Given the description of an element on the screen output the (x, y) to click on. 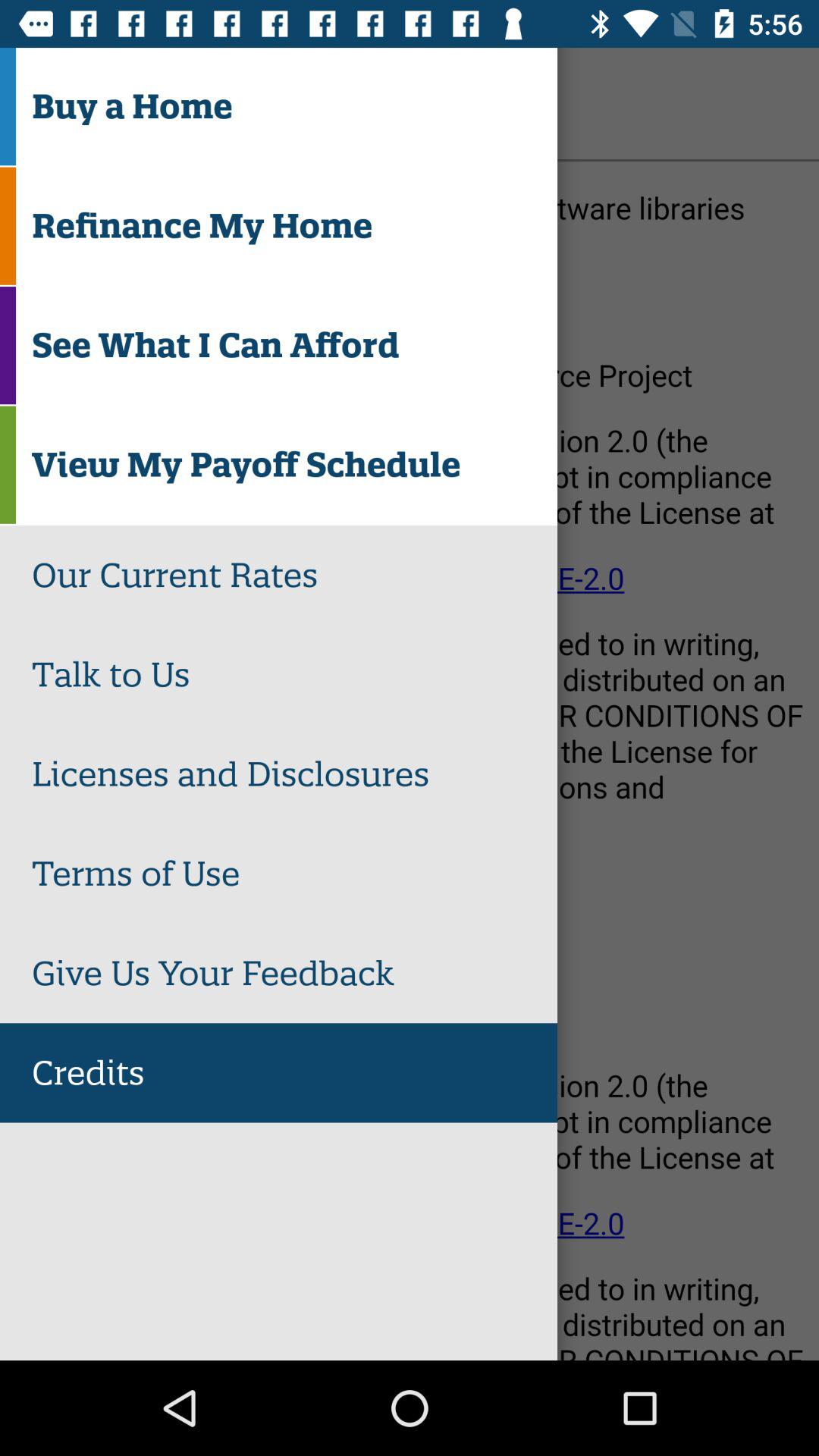
turn off view my payoff item (294, 464)
